Given the description of an element on the screen output the (x, y) to click on. 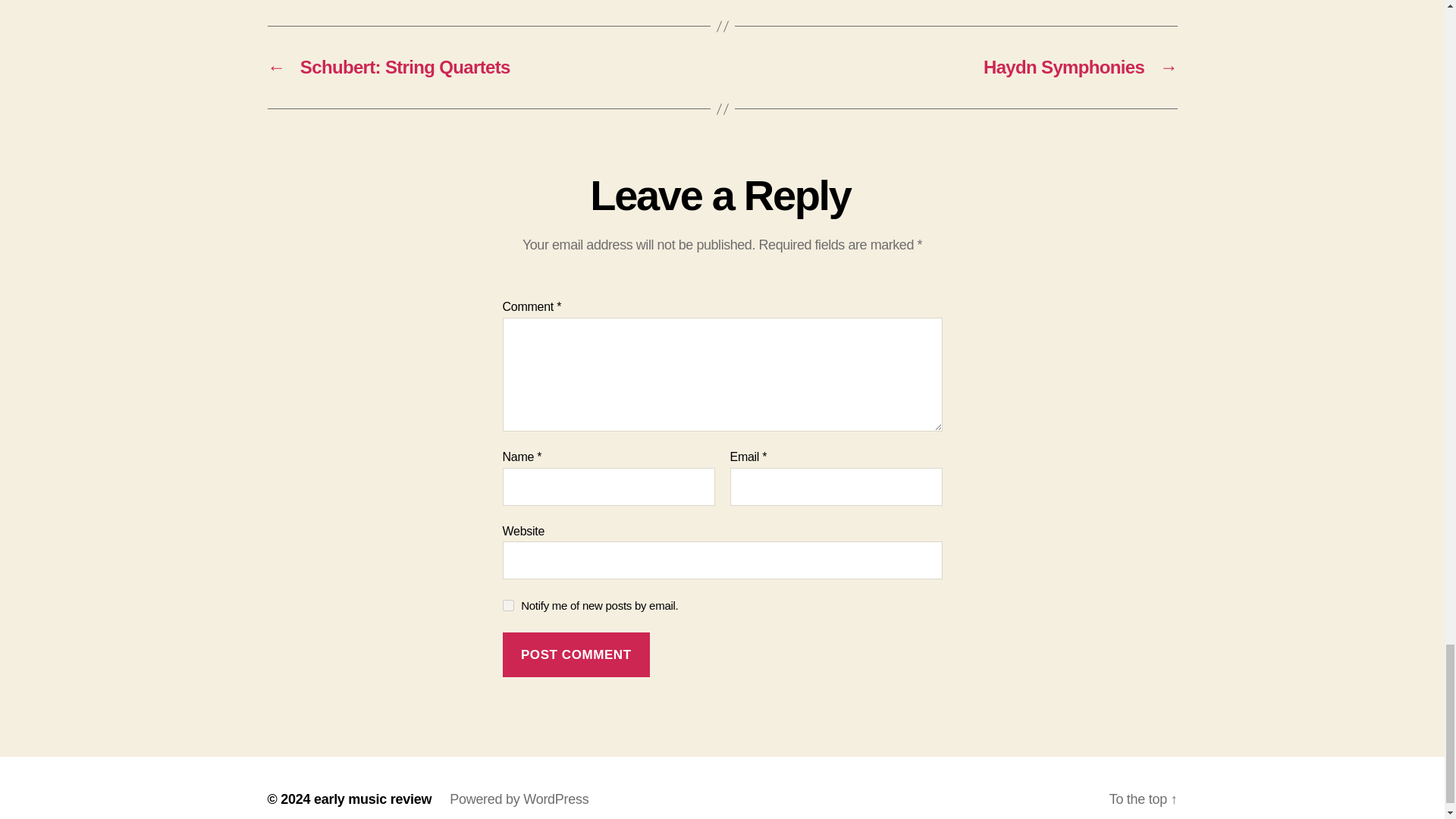
subscribe (507, 604)
early music review (372, 798)
Powered by WordPress (518, 798)
Post Comment (575, 654)
Post Comment (575, 654)
